Given the description of an element on the screen output the (x, y) to click on. 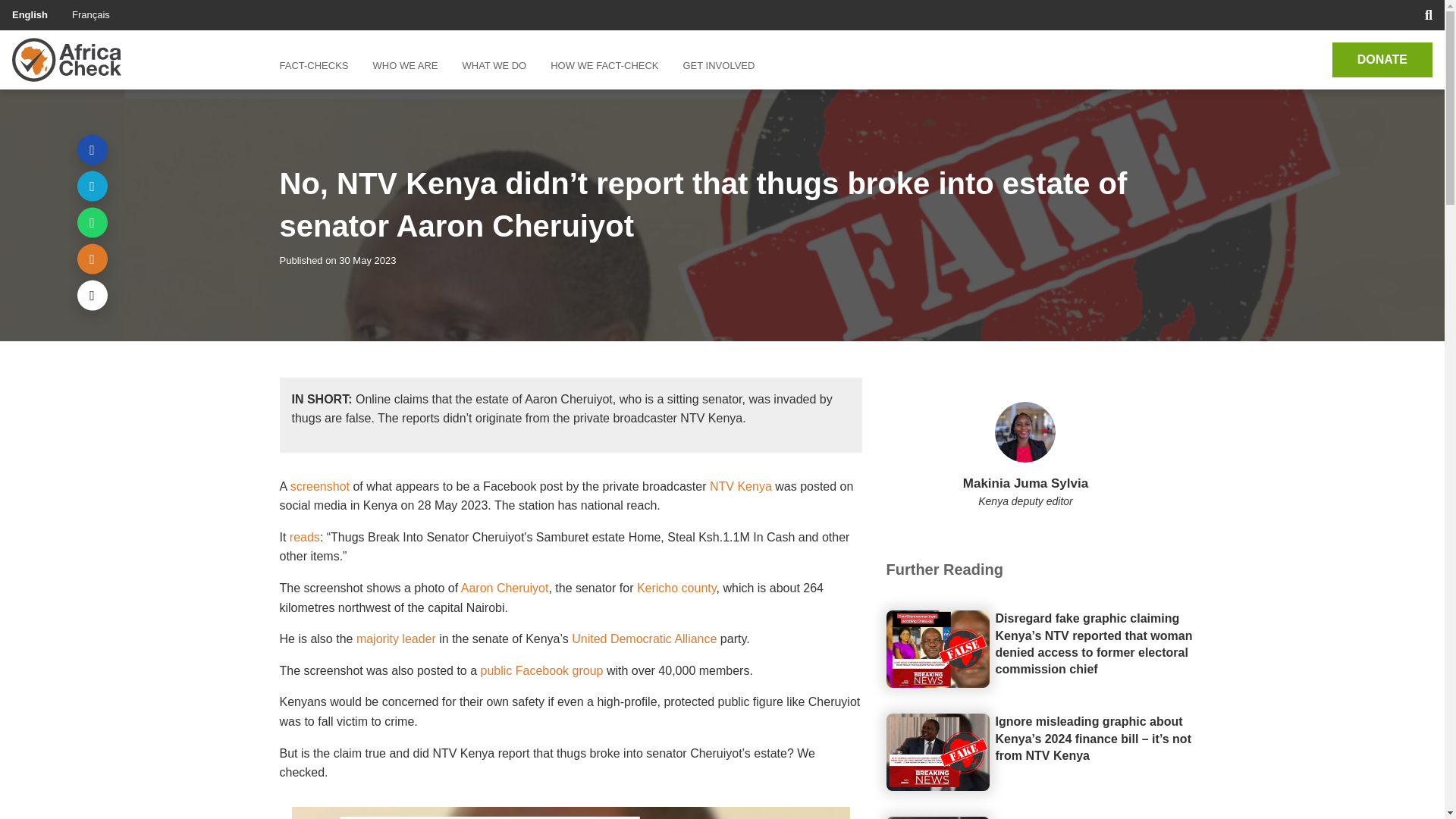
DONATE (1382, 59)
English (29, 14)
FACT-CHECKS (319, 65)
WHO WE ARE (405, 65)
HOW WE FACT-CHECK (603, 65)
WHAT WE DO (493, 65)
GET INVOLVED (718, 65)
